Given the description of an element on the screen output the (x, y) to click on. 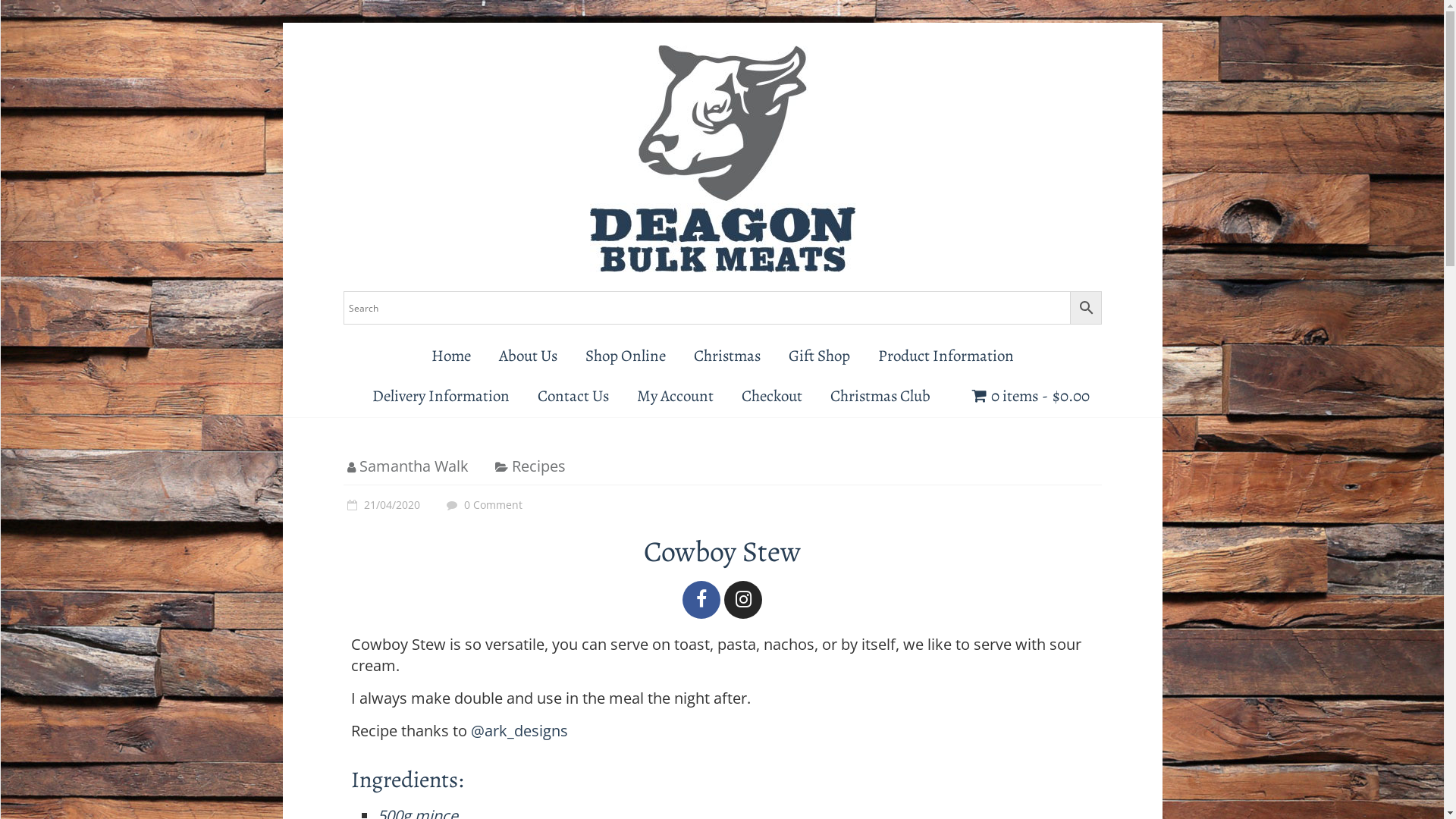
@ark_designs Element type: text (518, 730)
Checkout Element type: text (771, 396)
Home Element type: text (450, 355)
Samantha Walk Element type: text (413, 465)
Contact Us Element type: text (573, 396)
Gift Shop Element type: text (819, 355)
My Account Element type: text (674, 396)
About Us Element type: text (527, 355)
Recipes Element type: text (537, 465)
Christmas Club Element type: text (880, 396)
0 Comment Element type: text (482, 504)
Christmas Element type: text (725, 355)
21/04/2020 Element type: text (380, 504)
Delivery Information Element type: text (440, 396)
0 items$0.00 Element type: text (1030, 396)
Product Information Element type: text (946, 355)
Shop Online Element type: text (625, 355)
